Given the description of an element on the screen output the (x, y) to click on. 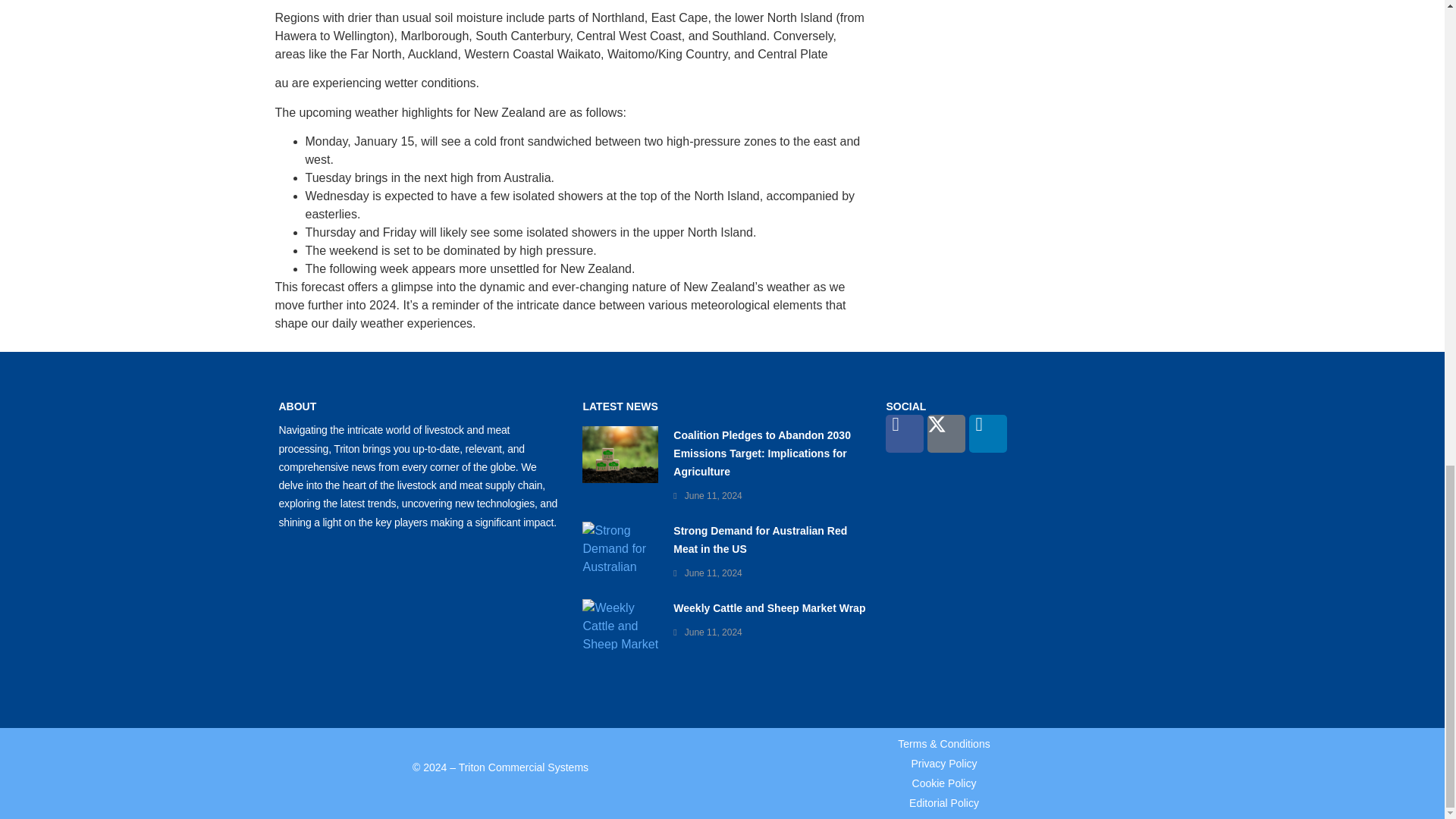
Weekly Cattle and Sheep Market Wrap (768, 607)
June 11, 2024 (713, 632)
June 11, 2024 (713, 573)
Strong Demand for Australian Red Meat in the US (759, 539)
June 11, 2024 (713, 495)
